Given the description of an element on the screen output the (x, y) to click on. 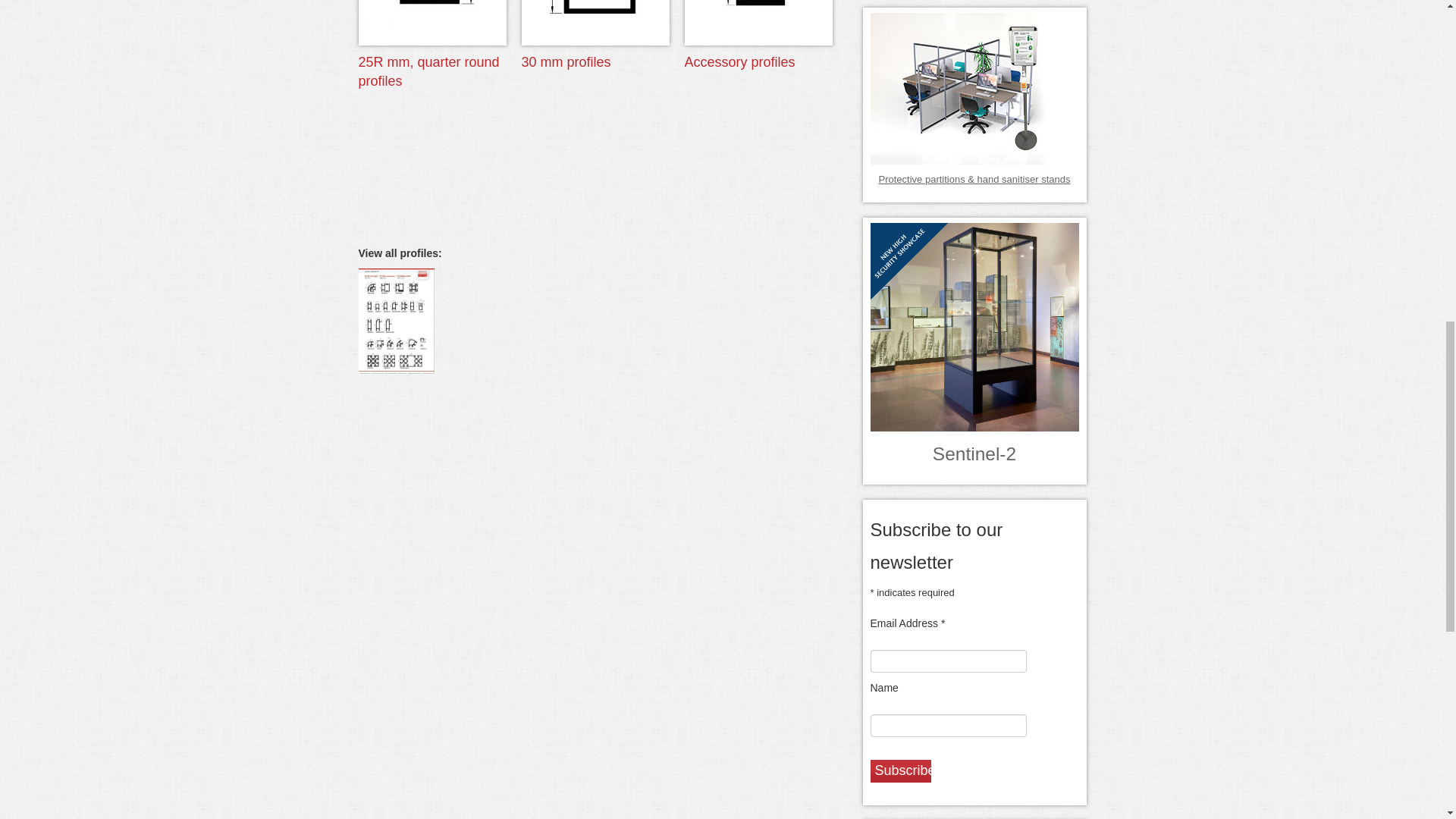
Subscribe (900, 771)
25R mm, quarter round profiles (431, 71)
View all alu profiles (395, 320)
Accessory profiles (739, 62)
30 mm profiles (566, 62)
30 mm profiles (594, 20)
25R mm, quarter round profiles (431, 71)
Accessory profiles (739, 62)
Accessory profiles (758, 20)
25R mm, quarter round profiles (432, 20)
